Given the description of an element on the screen output the (x, y) to click on. 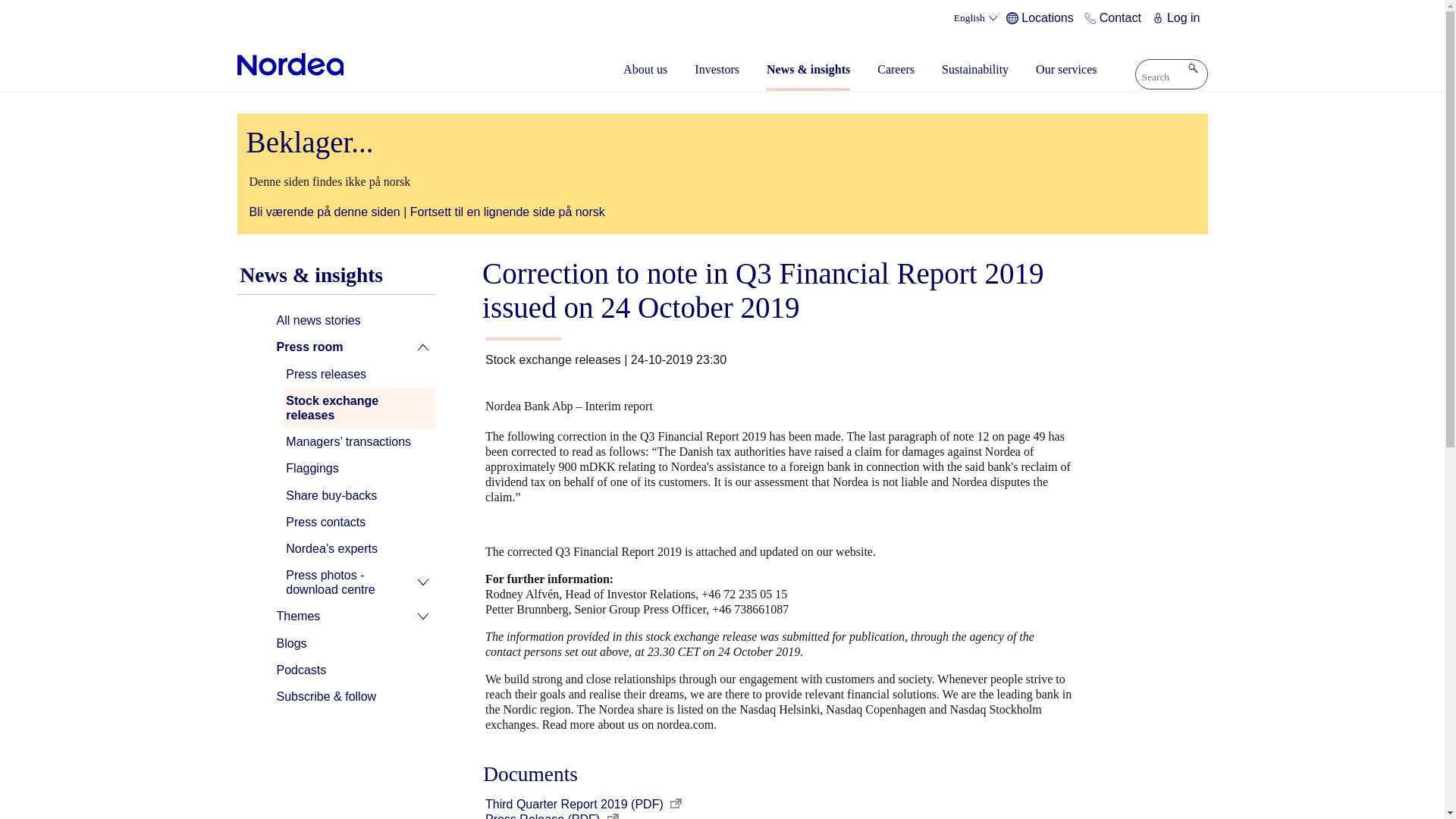
Skip to main content (721, 1)
Locations (1042, 18)
Contact (1114, 18)
Log in (1178, 18)
English (977, 18)
Nordea (289, 64)
